Given the description of an element on the screen output the (x, y) to click on. 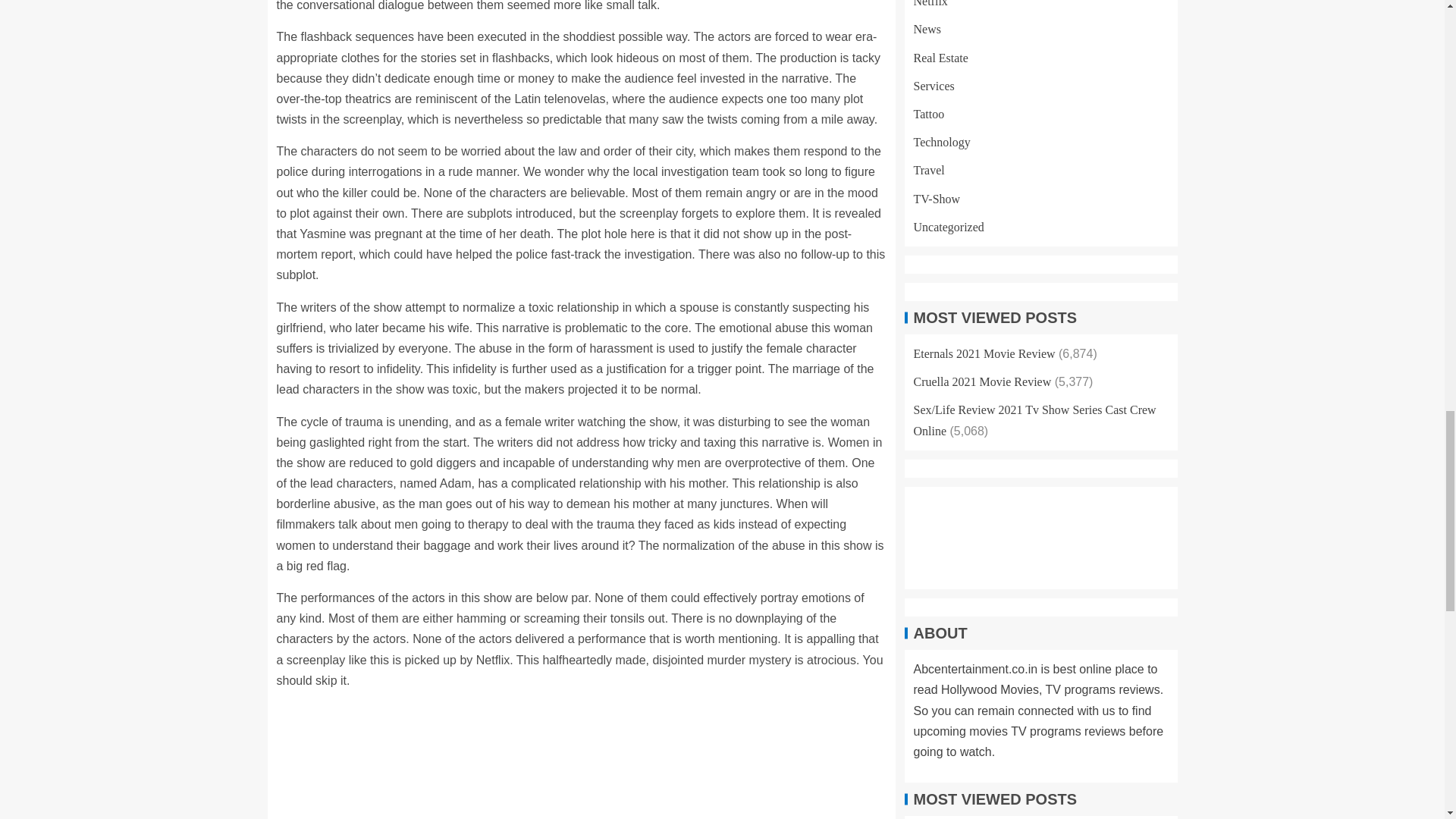
Hard Broken - Trailer - Netflix (580, 760)
